Given the description of an element on the screen output the (x, y) to click on. 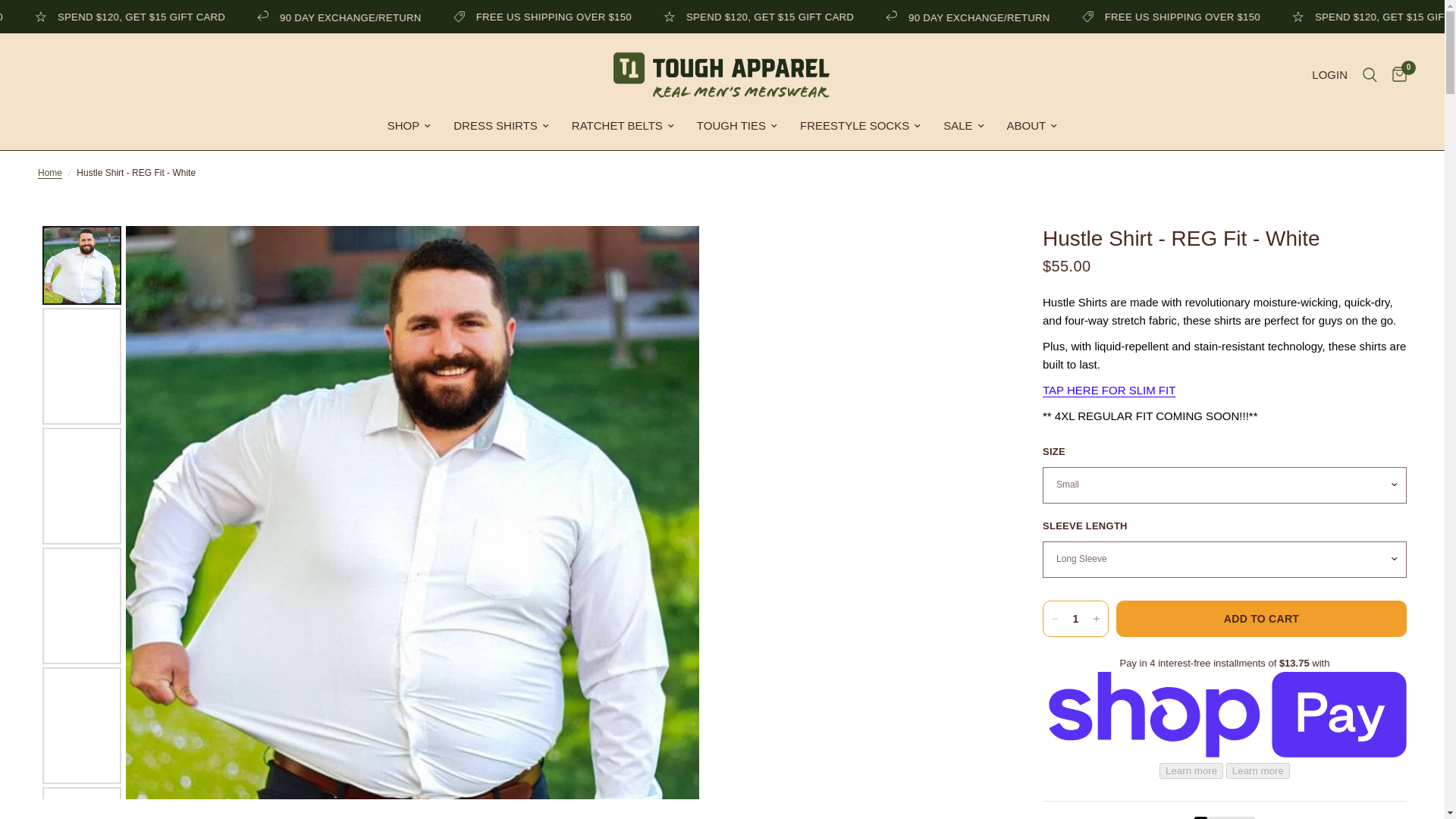
1 (1074, 618)
